Given the description of an element on the screen output the (x, y) to click on. 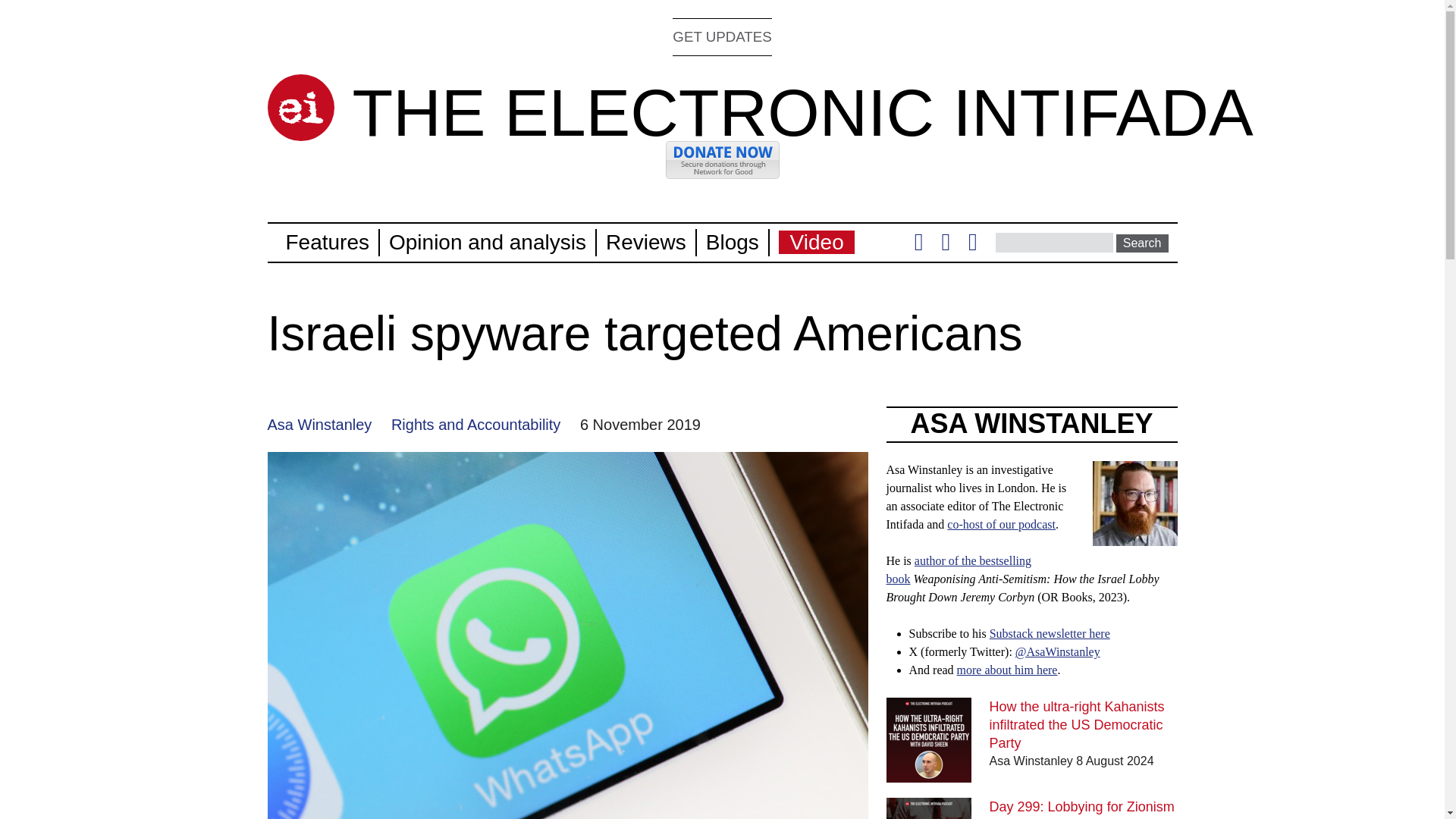
GET UPDATES (721, 37)
Enter the terms you wish to search for. (1054, 242)
Asa Winstanley (318, 424)
Search (1142, 243)
Home (299, 107)
Asa Winstanley's picture (1134, 535)
Home (802, 112)
THE ELECTRONIC INTIFADA (802, 112)
Asa Winstanley's picture (1134, 503)
Rights and Accountability (475, 424)
